Given the description of an element on the screen output the (x, y) to click on. 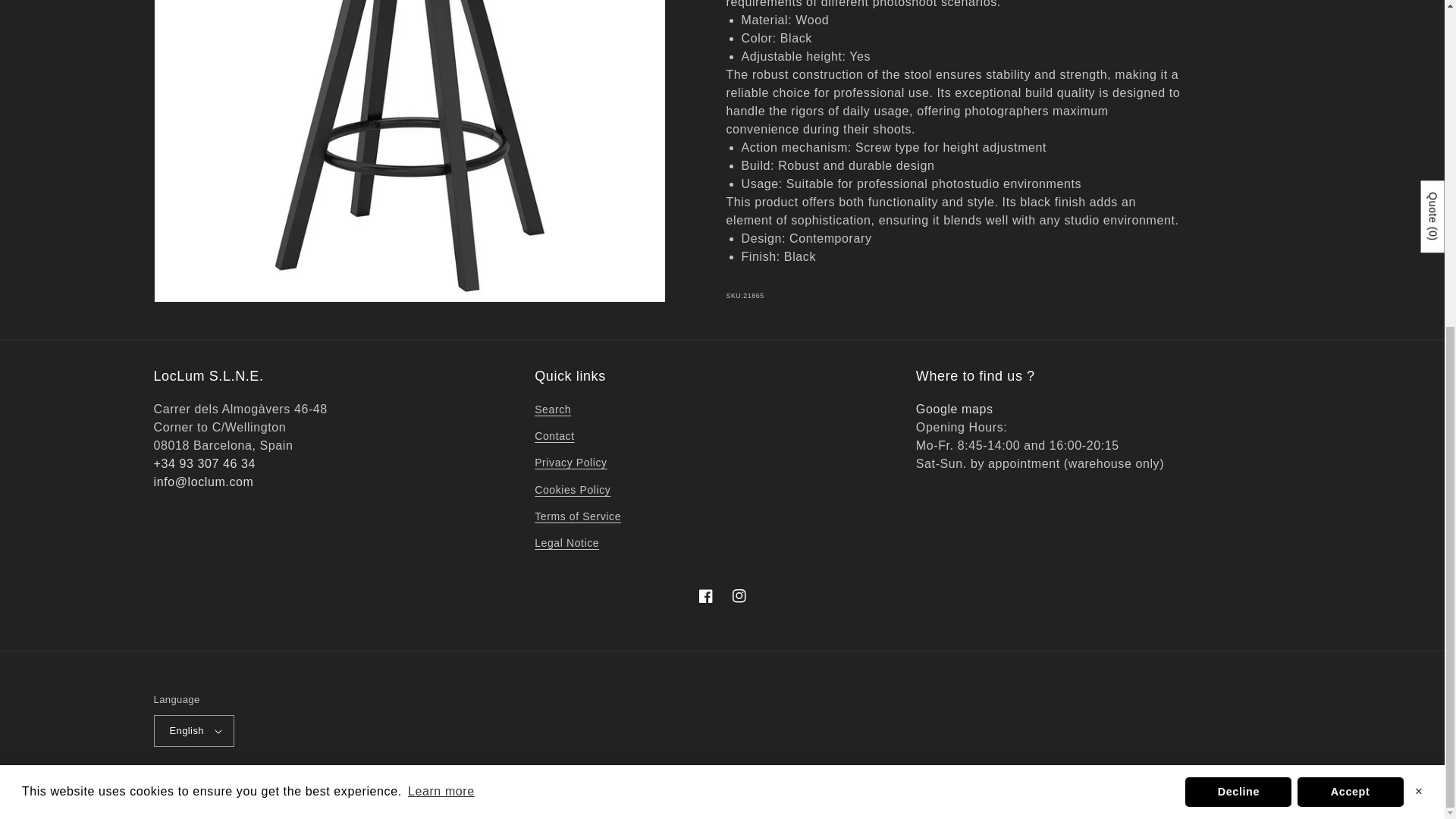
Decline (1238, 253)
Accept (1350, 253)
Learn more (441, 252)
Google map (953, 408)
